Given the description of an element on the screen output the (x, y) to click on. 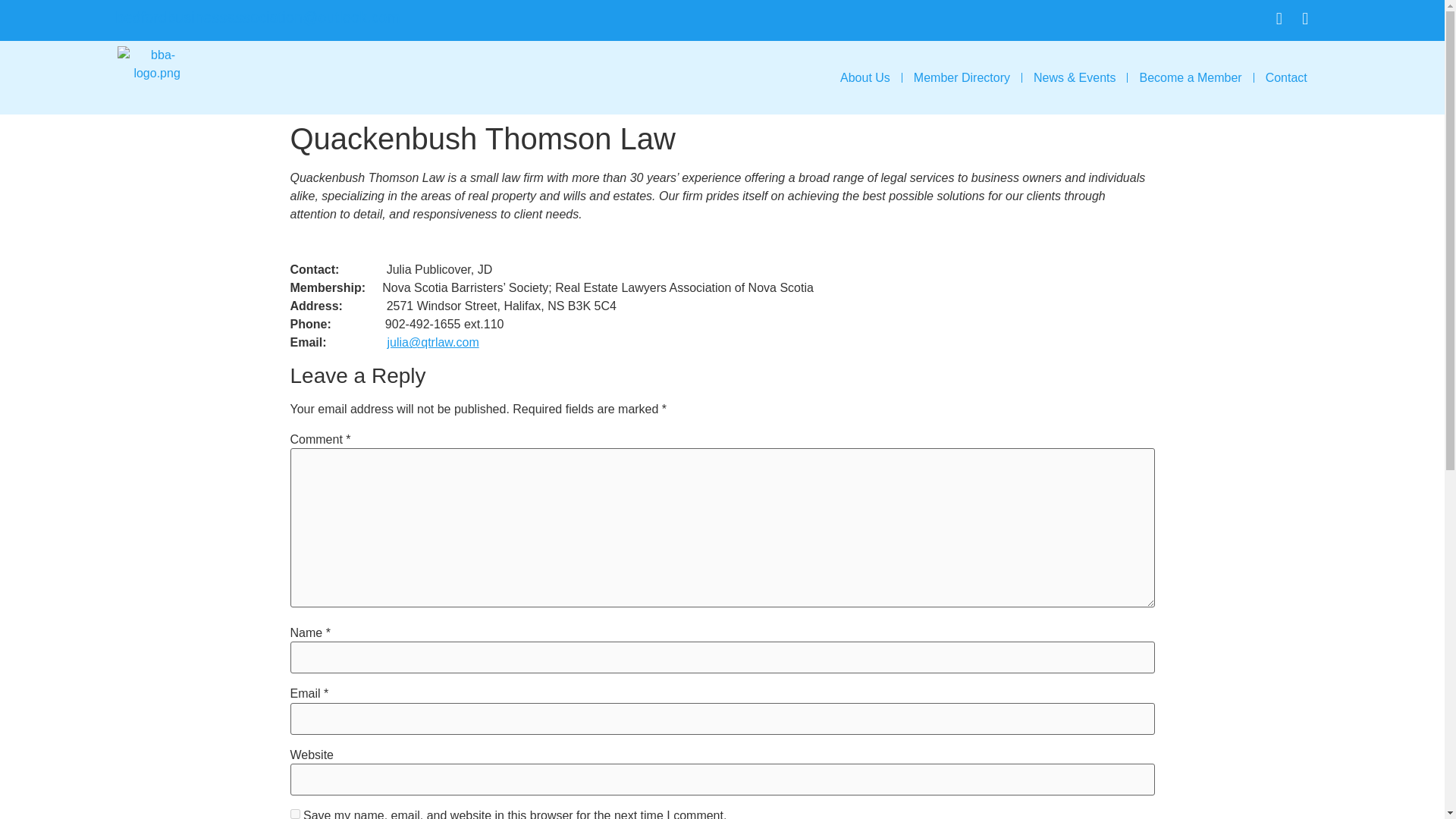
bba-logo.png (156, 76)
Member Directory (962, 77)
Contact (1286, 77)
About Us (864, 77)
Become a Member (1189, 77)
yes (294, 814)
